Given the description of an element on the screen output the (x, y) to click on. 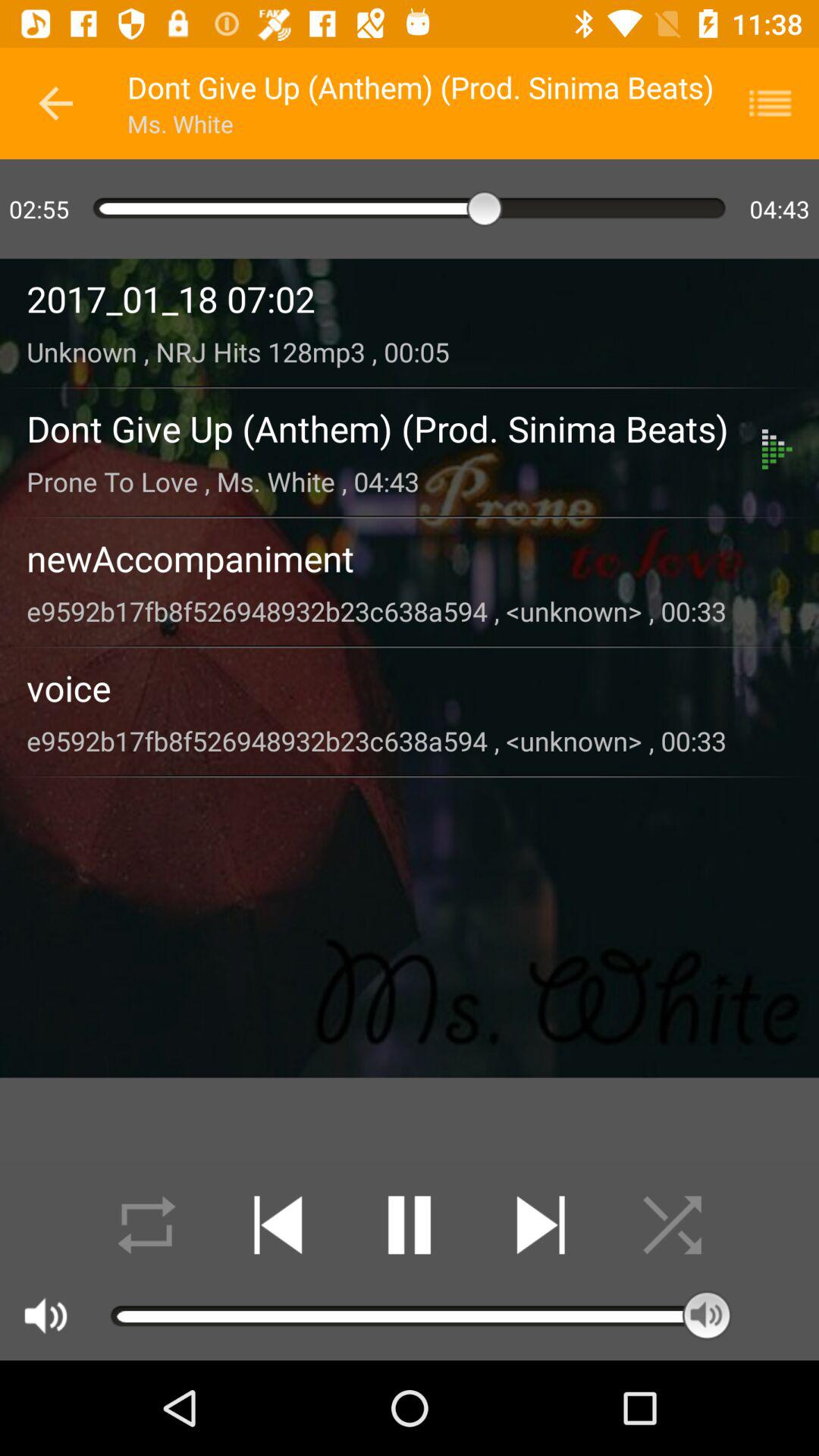
go to the next page (540, 1224)
